Given the description of an element on the screen output the (x, y) to click on. 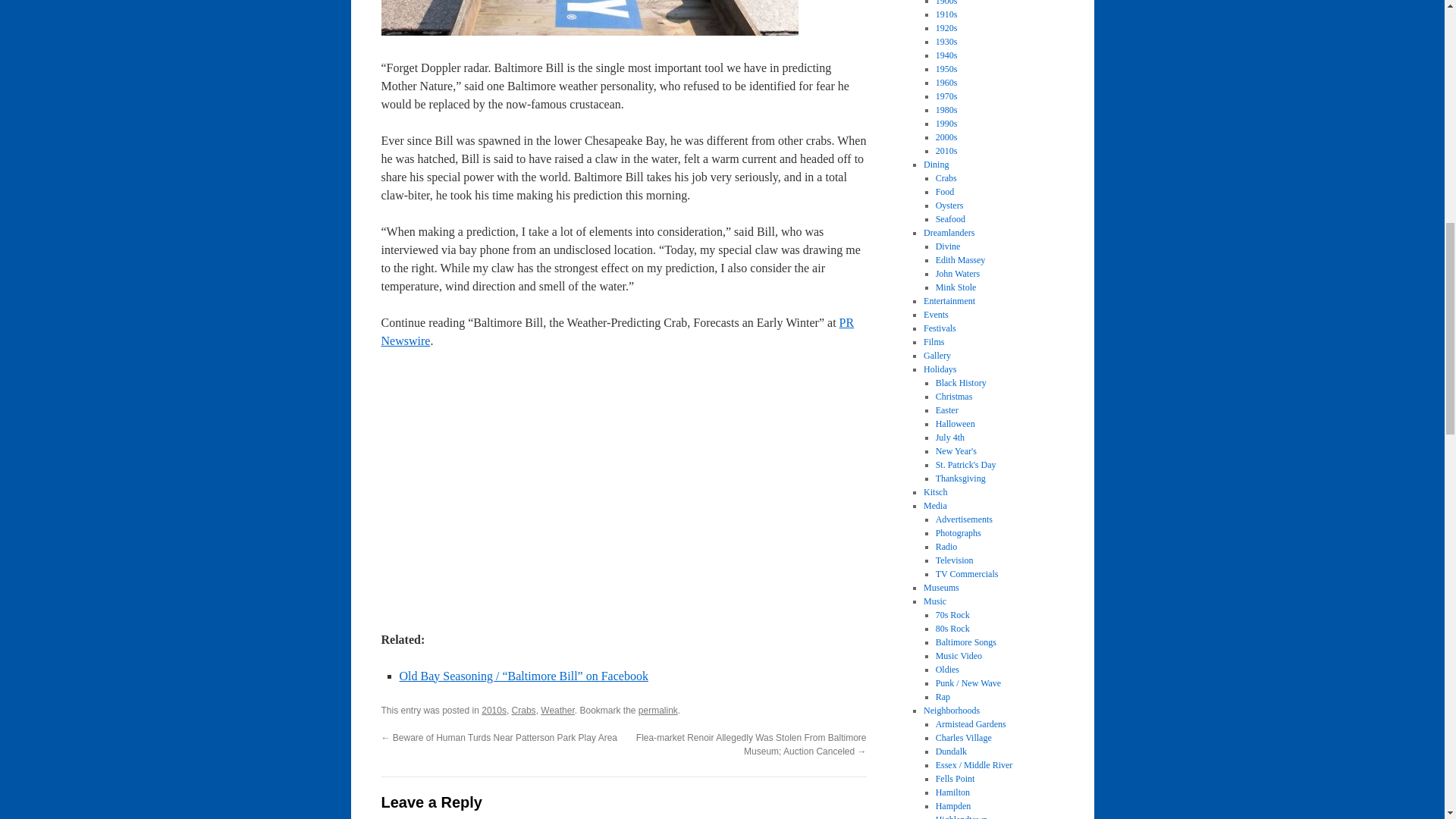
permalink (658, 710)
2010s (493, 710)
balto-bill2 (588, 18)
Weather (556, 710)
PR Newswire (616, 331)
Crabs (523, 710)
